Given the description of an element on the screen output the (x, y) to click on. 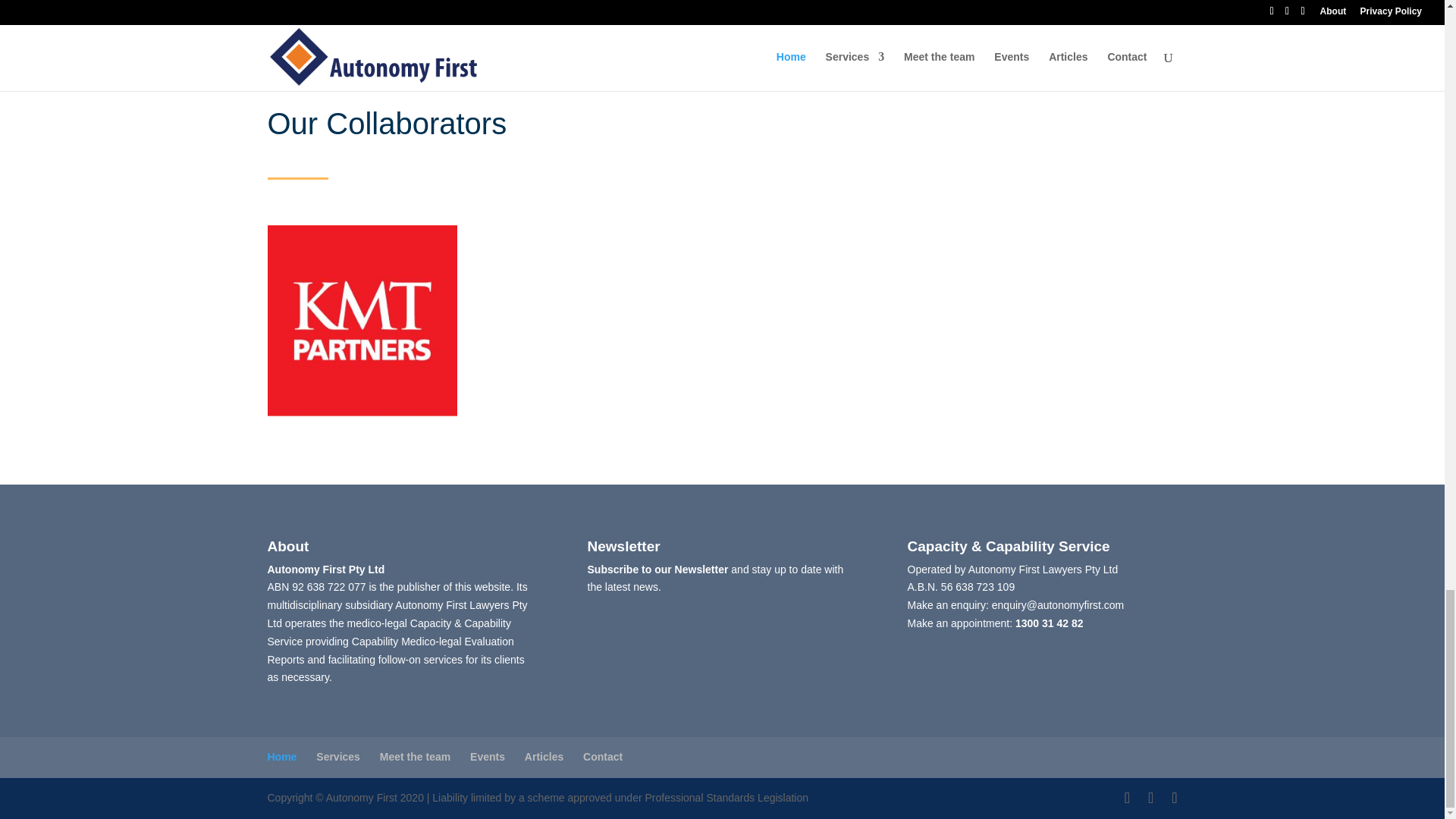
Articles (543, 756)
Subscribe to our Newsletter (657, 569)
Contact (603, 756)
Home (281, 756)
Meet the team (414, 756)
Events (487, 756)
Services (337, 756)
